Given the description of an element on the screen output the (x, y) to click on. 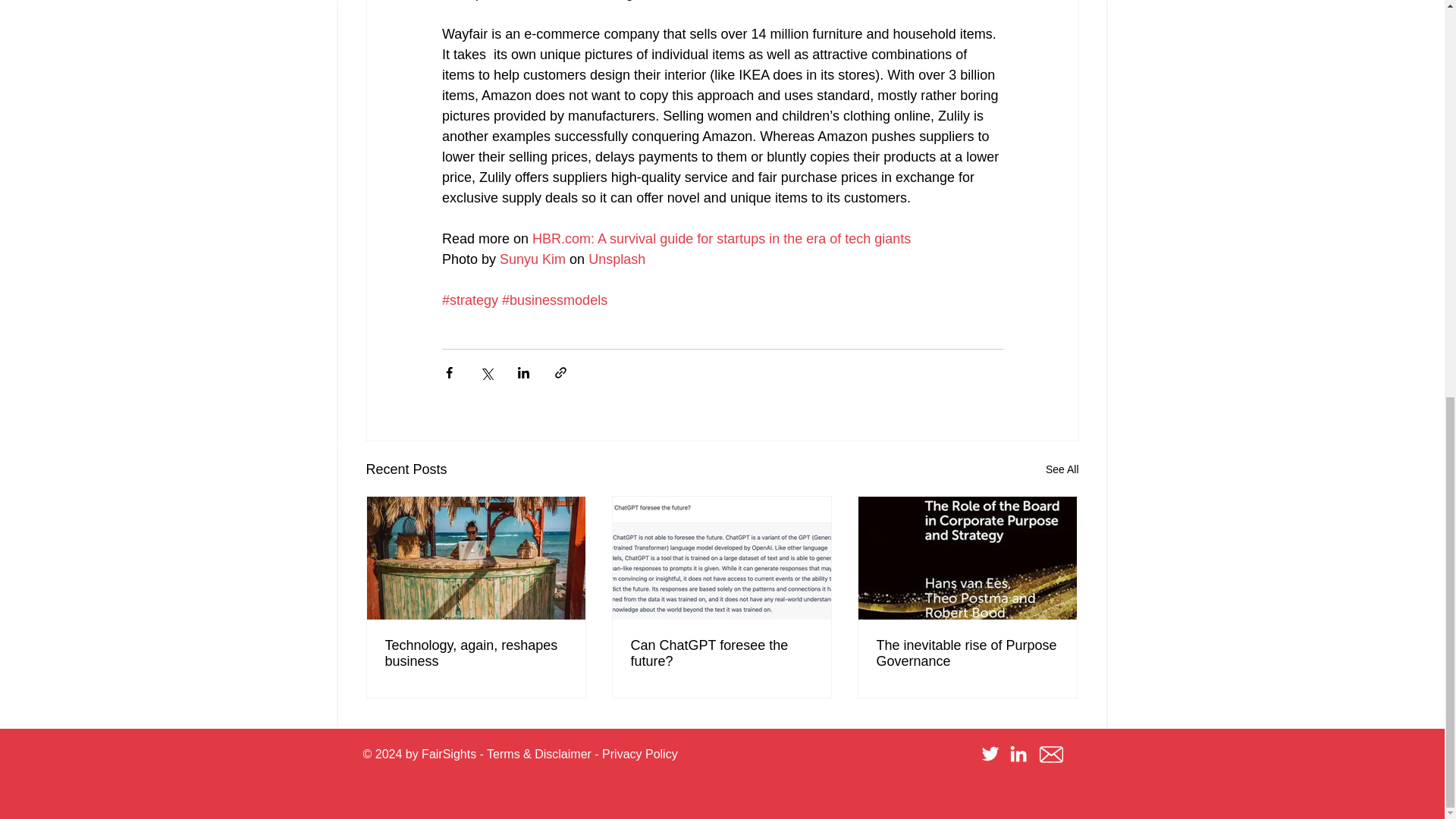
The inevitable rise of Purpose Governance (967, 653)
Unsplash (616, 258)
Can ChatGPT foresee the future? (721, 653)
Sunyu Kim (532, 258)
Privacy Policy (640, 753)
See All (1061, 469)
Technology, again, reshapes business (476, 653)
